Given the description of an element on the screen output the (x, y) to click on. 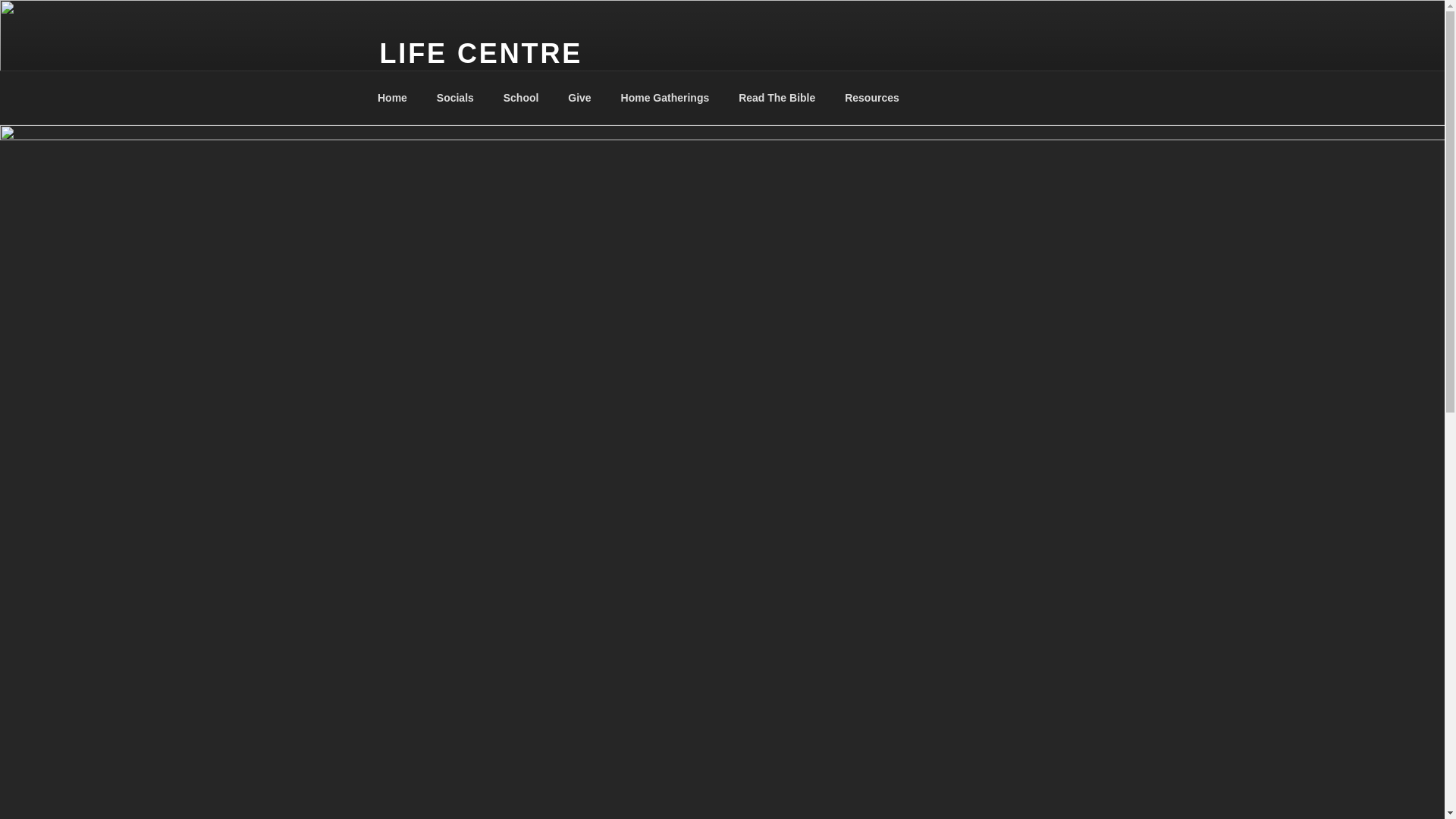
Home Gatherings Element type: text (664, 97)
School Element type: text (520, 97)
Read The Bible Element type: text (776, 97)
Socials Element type: text (454, 97)
Give Element type: text (579, 97)
Resources Element type: text (872, 97)
Home Element type: text (392, 97)
LIFE CENTRE Element type: text (480, 53)
